Given the description of an element on the screen output the (x, y) to click on. 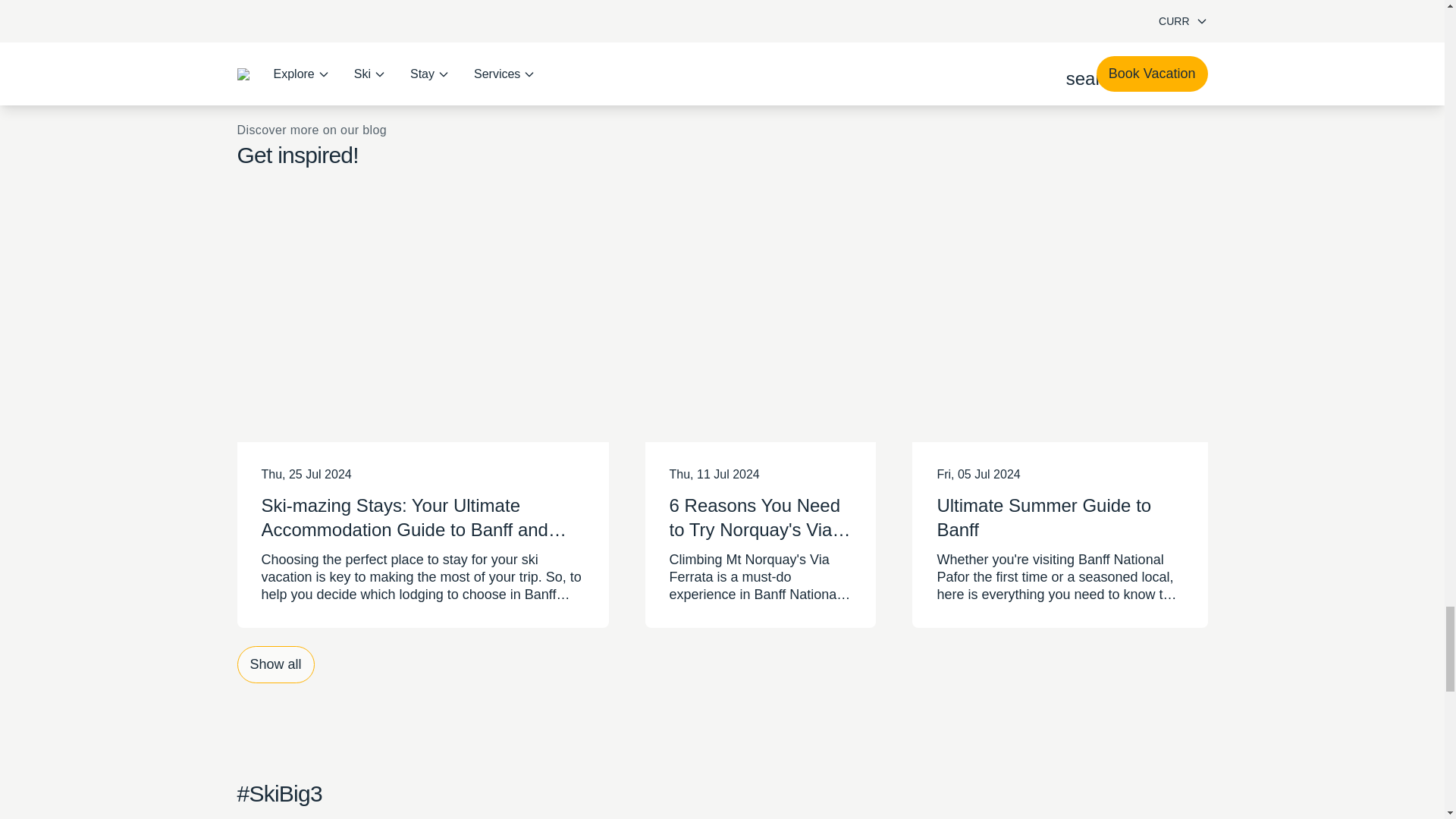
Show all (274, 664)
